Given the description of an element on the screen output the (x, y) to click on. 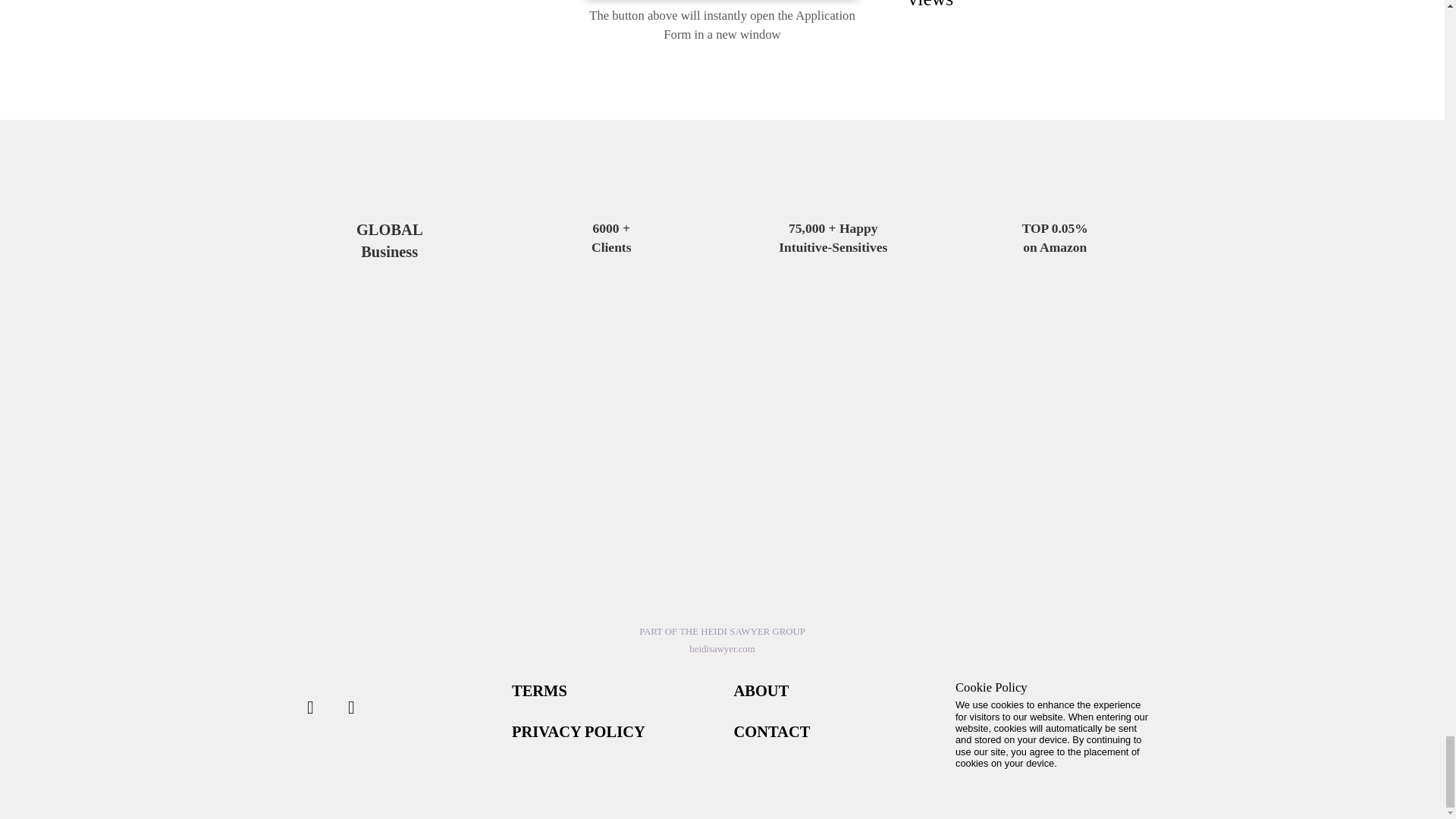
ABOUT (761, 690)
CONTACT (771, 731)
TERMS (539, 690)
PRIVACY POLICY (578, 731)
heidisawyer.com (721, 648)
